Given the description of an element on the screen output the (x, y) to click on. 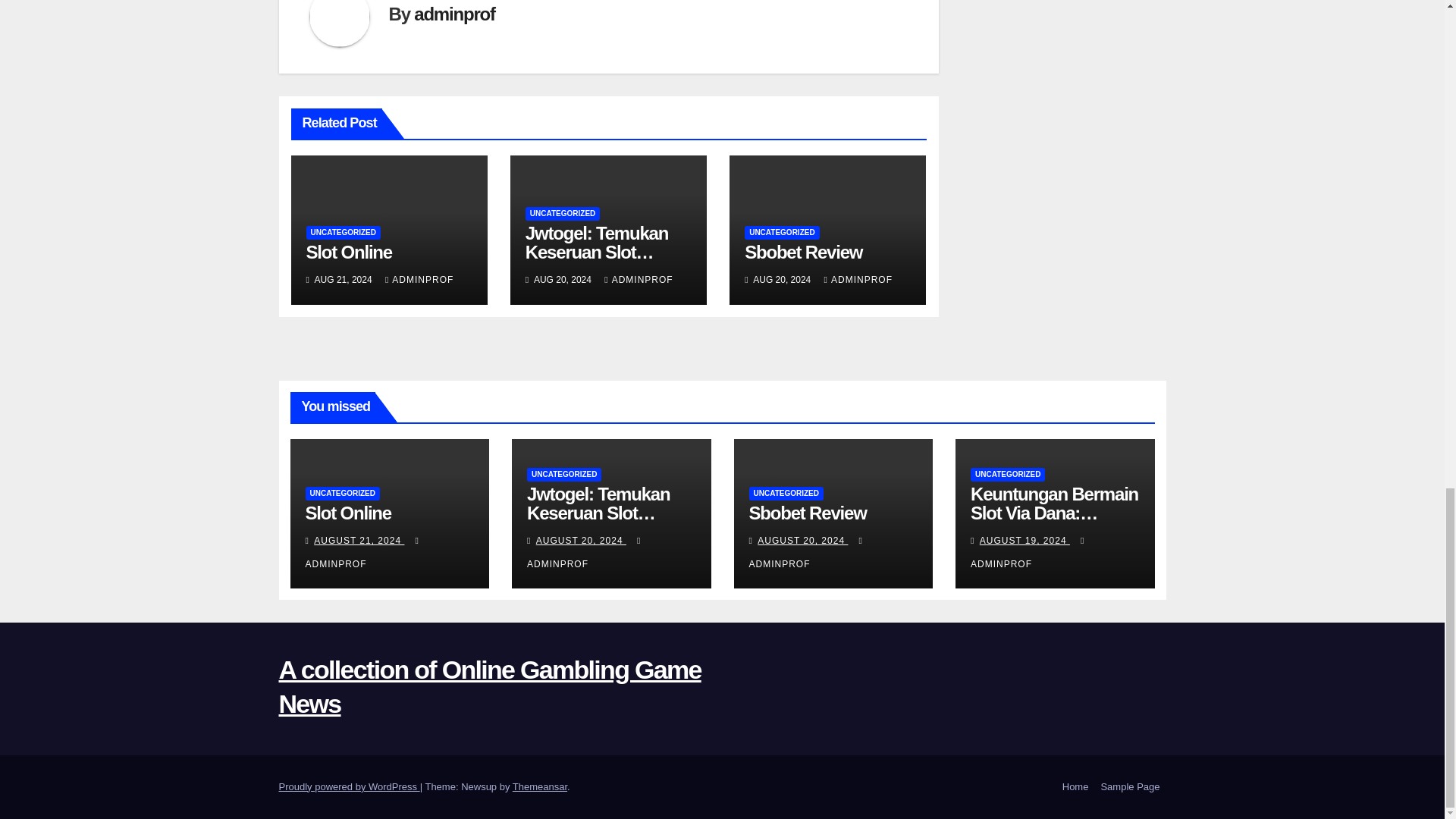
ADMINPROF (638, 279)
UNCATEGORIZED (562, 213)
Permalink to: Slot Online (347, 512)
adminprof (454, 14)
Slot Online (348, 251)
UNCATEGORIZED (781, 232)
Permalink to: Slot Online (348, 251)
